Given the description of an element on the screen output the (x, y) to click on. 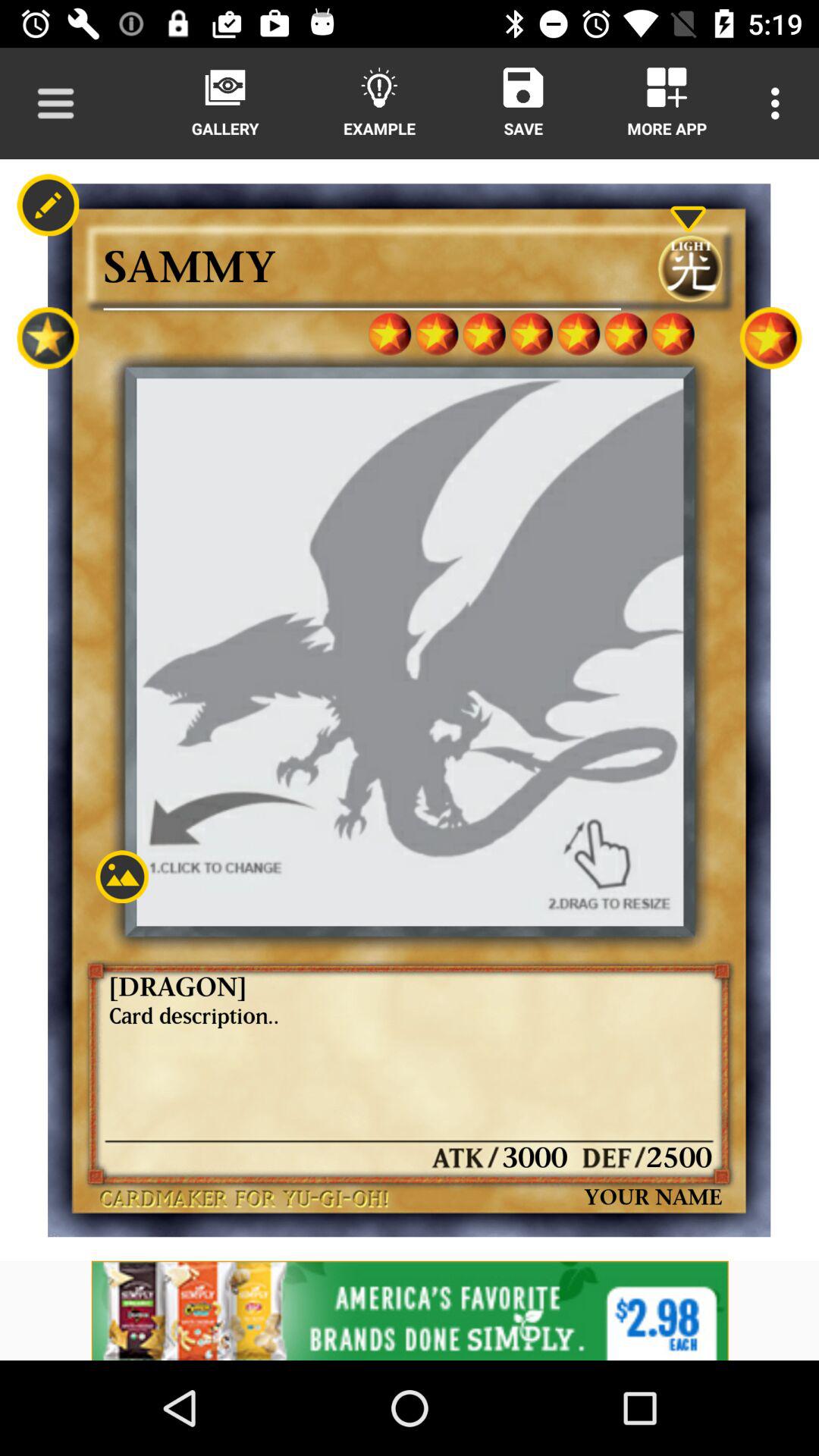
image option (121, 876)
